Given the description of an element on the screen output the (x, y) to click on. 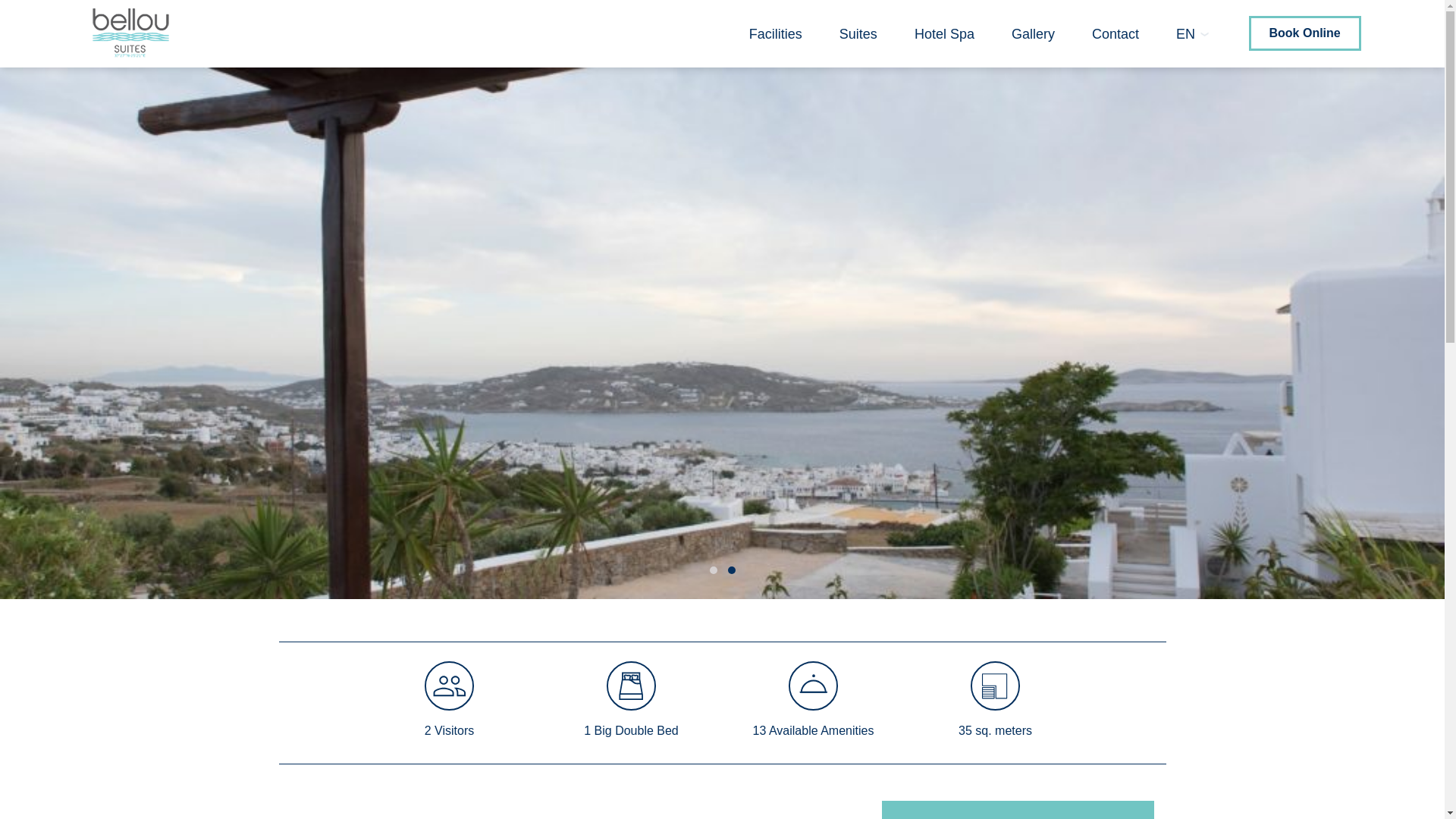
Contact (1115, 33)
Facilities (775, 33)
Gallery (1032, 33)
Book Online (1303, 32)
Gallery (1032, 33)
Contact (1115, 33)
Hotel Spa (944, 33)
Facilities (775, 33)
Hotel Spa (944, 33)
Suites (858, 33)
Suites (858, 33)
